Given the description of an element on the screen output the (x, y) to click on. 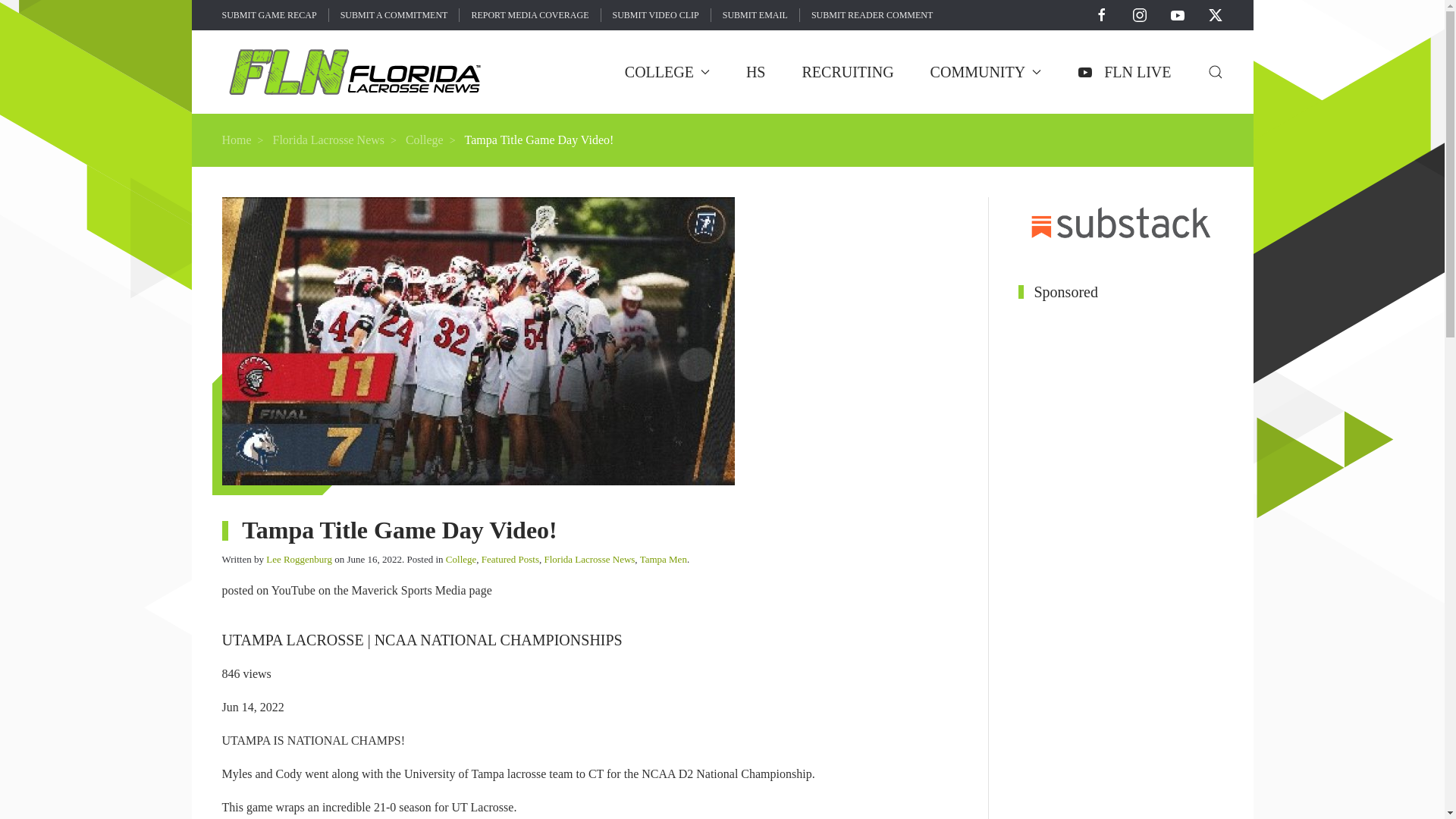
FLN LIVE (1123, 71)
Advertisement (1108, 137)
FLN Livestream (1123, 71)
RECRUITING (847, 71)
SUBMIT GAME RECAP (268, 15)
SUBMIT READER COMMENT (871, 15)
REPORT MEDIA COVERAGE (529, 15)
SUBMIT A COMMITMENT (394, 15)
SUBMIT EMAIL (754, 15)
SUBMIT VIDEO CLIP (655, 15)
COMMUNITY (986, 71)
COLLEGE (667, 71)
